Given the description of an element on the screen output the (x, y) to click on. 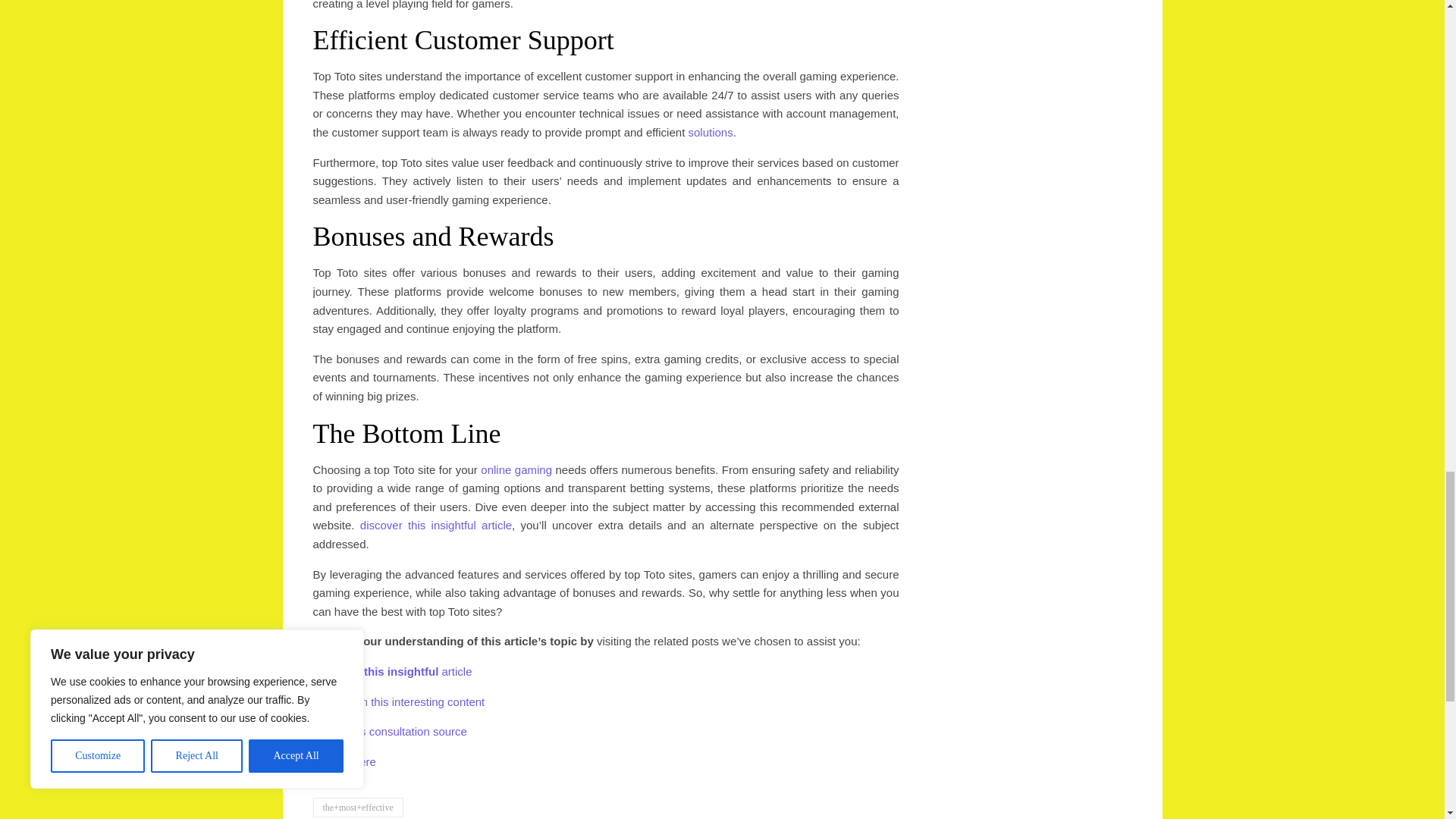
Learn from this interesting content (398, 701)
discover this insightful article (435, 524)
Check this consultation source (389, 730)
solutions (709, 132)
Discover this insightful article (392, 671)
Review here (344, 761)
online gaming (515, 469)
